Given the description of an element on the screen output the (x, y) to click on. 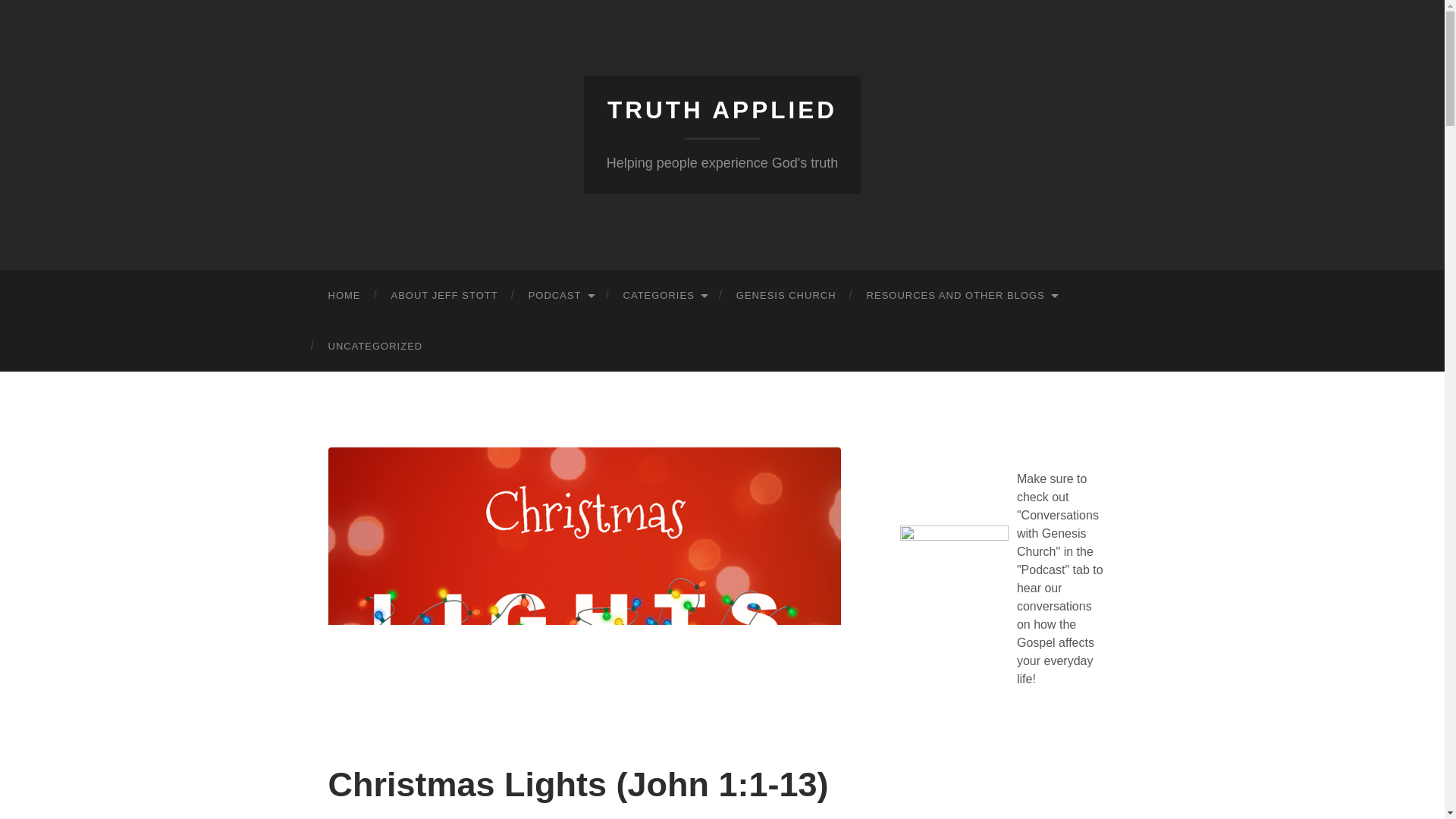
TRUTH APPLIED (722, 109)
HOME (344, 295)
CATEGORIES (664, 295)
ABOUT JEFF STOTT (444, 295)
PODCAST (560, 295)
Posts by Jeff Stott (502, 817)
